Given the description of an element on the screen output the (x, y) to click on. 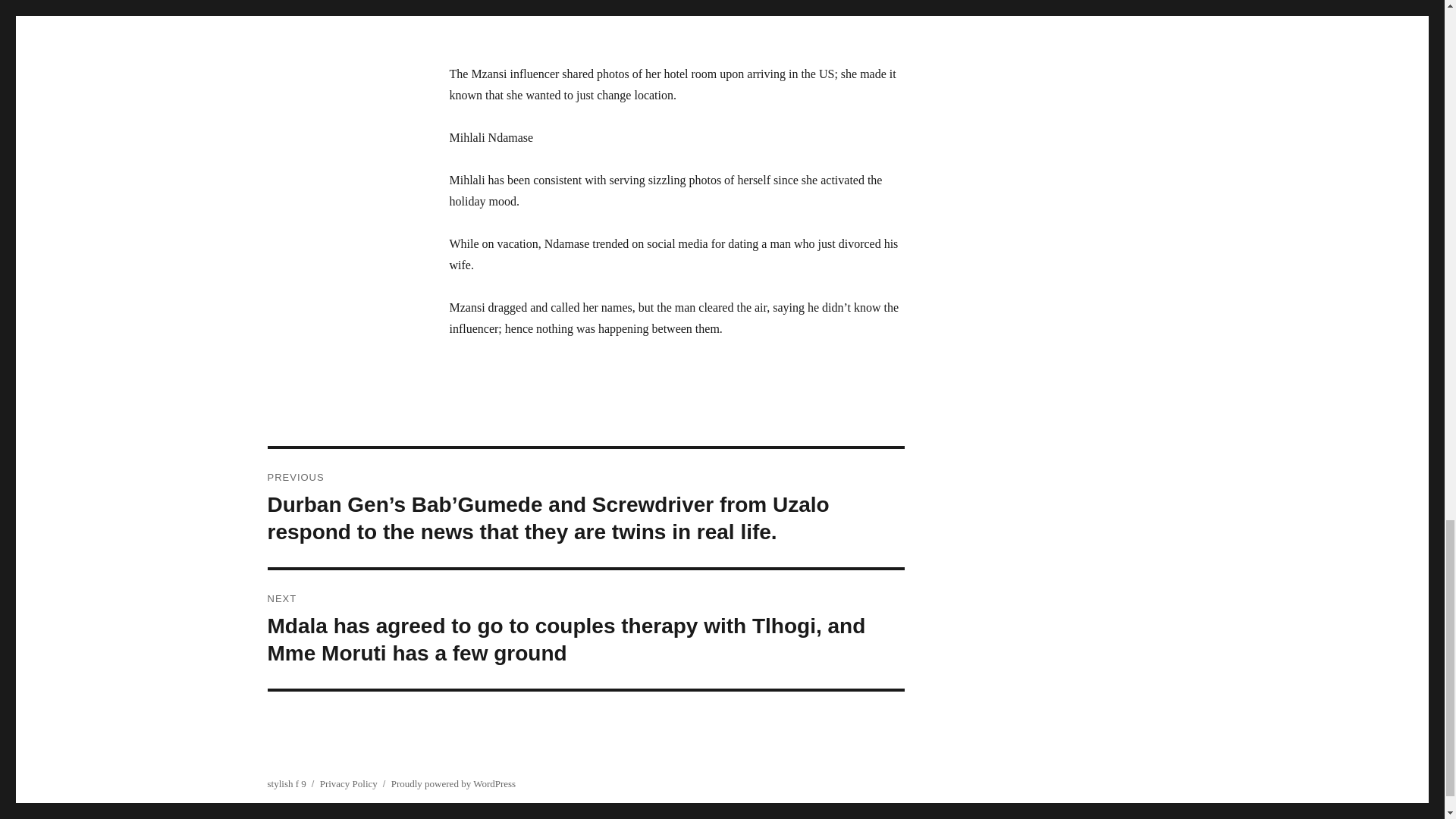
Privacy Policy (348, 783)
stylish f 9 (285, 783)
Proudly powered by WordPress (453, 783)
